Given the description of an element on the screen output the (x, y) to click on. 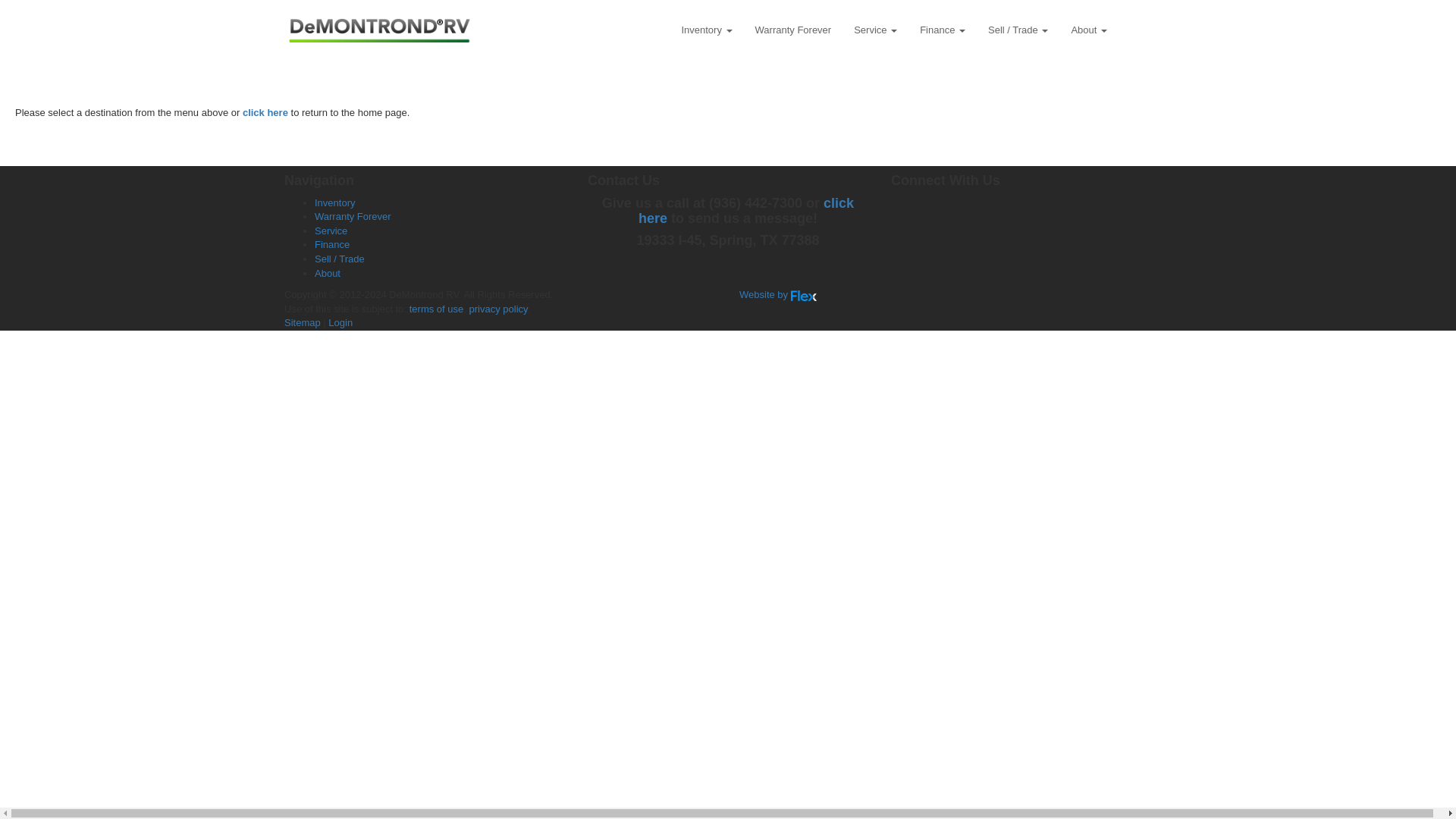
Service (875, 30)
Inventory (705, 30)
Service (330, 230)
Inventory (334, 202)
click here (746, 210)
Service (875, 30)
Finance (942, 30)
Finance (331, 244)
About (1088, 30)
Inventory (705, 30)
